Given the description of an element on the screen output the (x, y) to click on. 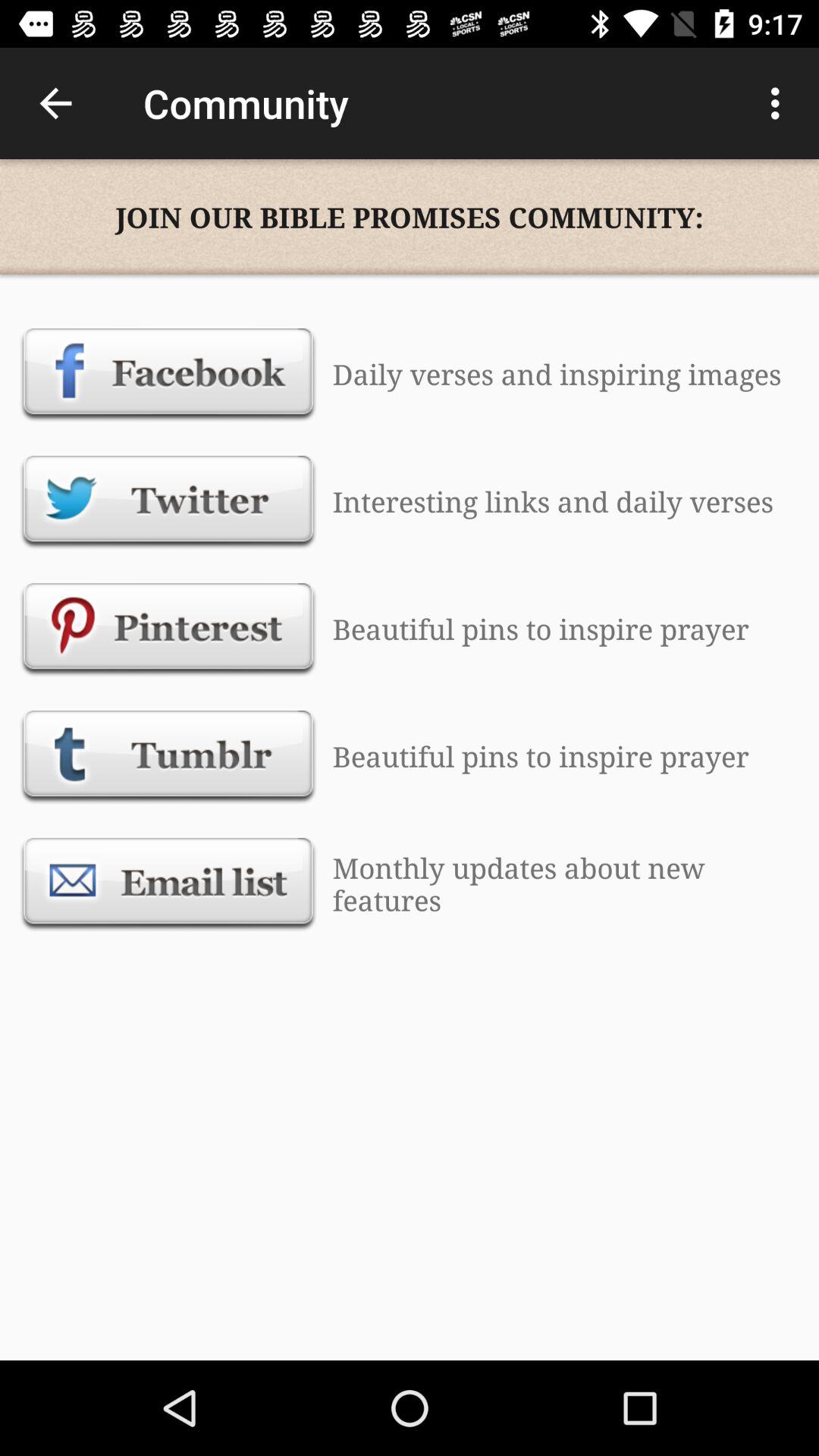
choose item next to the beautiful pins to (167, 628)
